Given the description of an element on the screen output the (x, y) to click on. 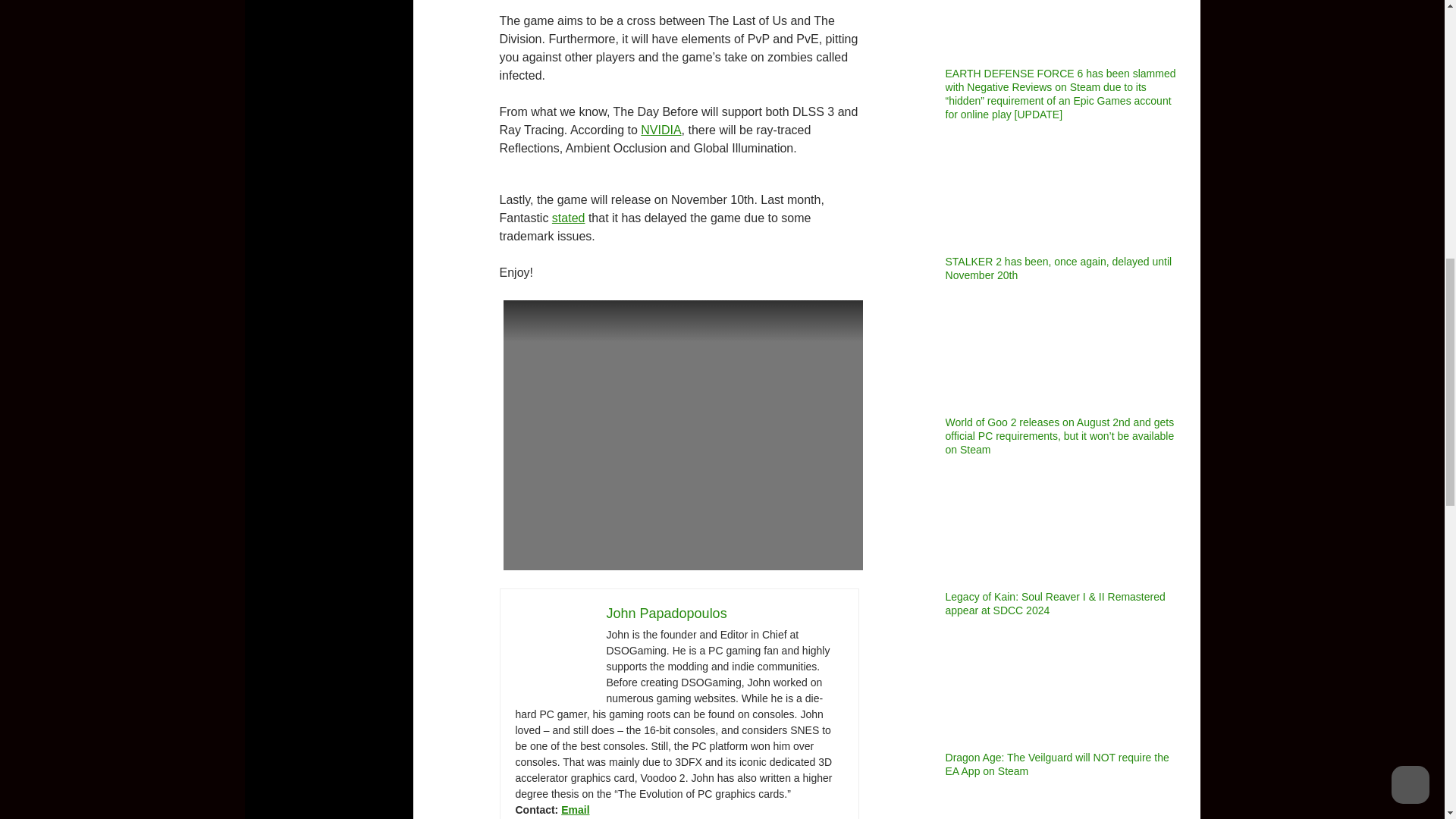
NVIDIA (660, 129)
John Papadopoulos (666, 613)
Email (574, 809)
stated (568, 217)
